Given the description of an element on the screen output the (x, y) to click on. 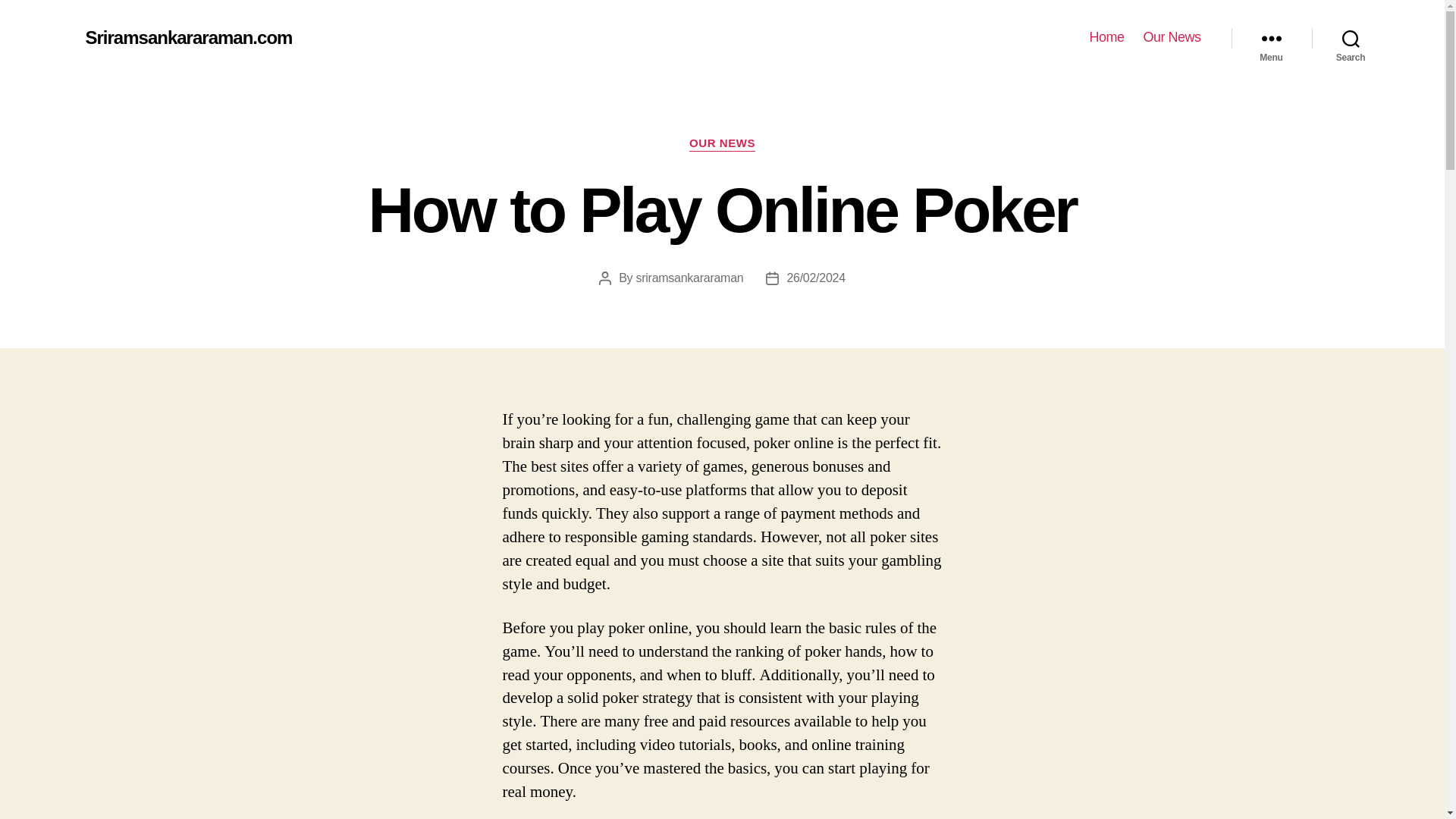
Search (1350, 37)
Home (1106, 37)
Menu (1271, 37)
Sriramsankararaman.com (188, 37)
sriramsankararaman (690, 277)
Our News (1170, 37)
OUR NEWS (721, 143)
